Given the description of an element on the screen output the (x, y) to click on. 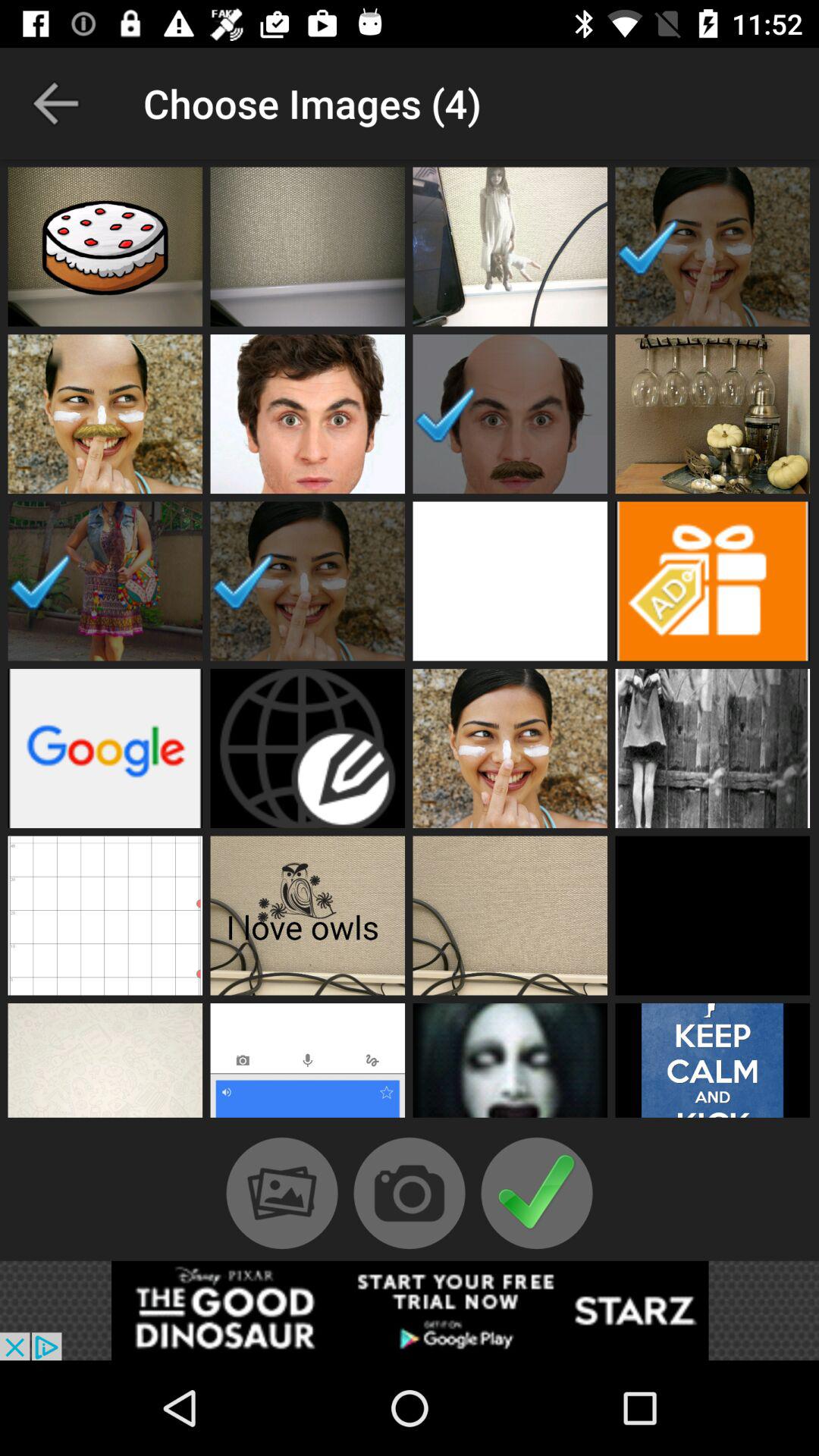
select image (104, 748)
